Given the description of an element on the screen output the (x, y) to click on. 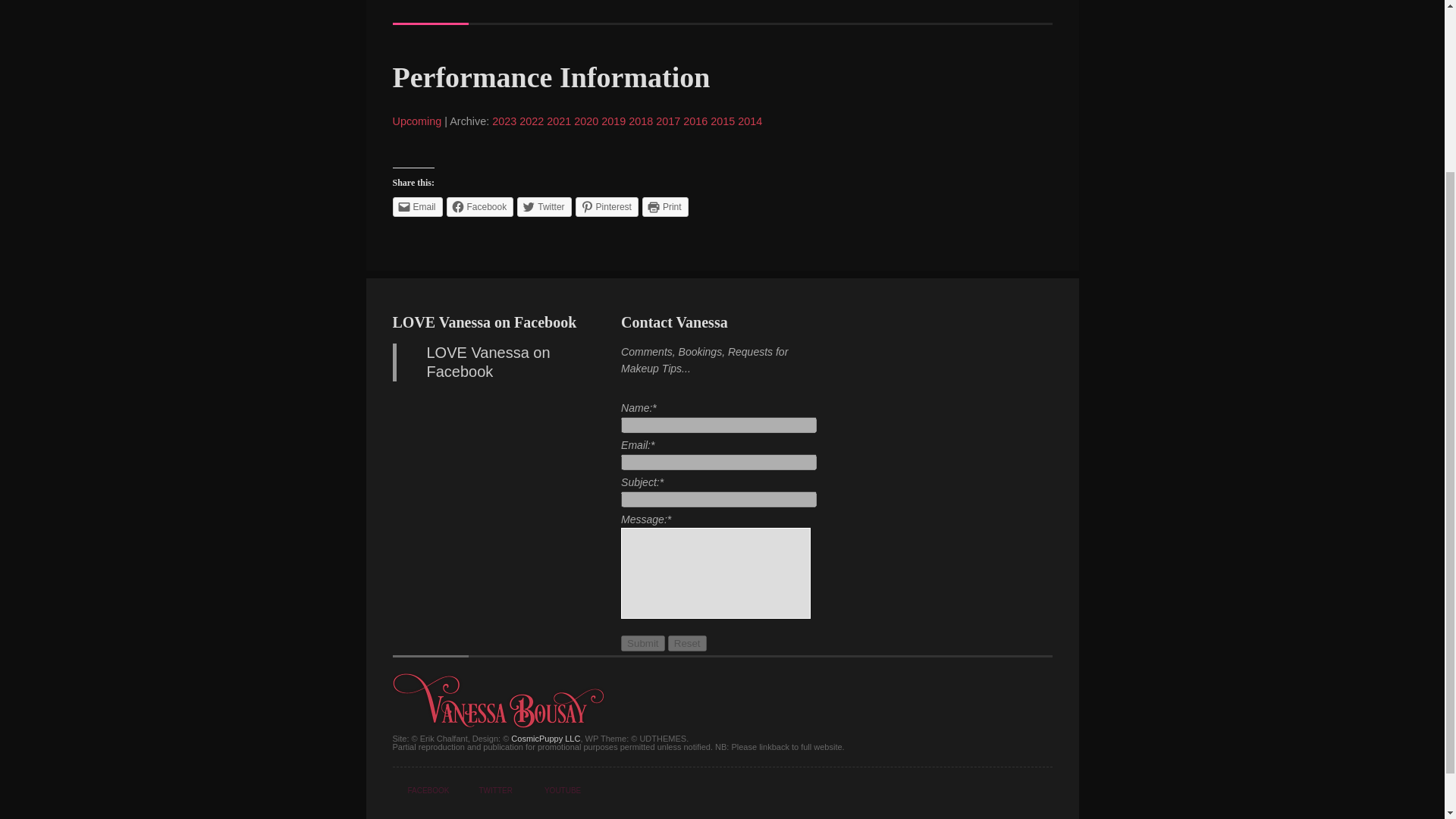
YouTube (552, 790)
Print (665, 207)
Submit (642, 643)
Upcoming (417, 121)
2019 (613, 121)
Click to print (665, 207)
Twitter (543, 207)
Email (417, 207)
Twitter (486, 790)
2020 (585, 121)
LOVE Vanessa on Facebook (484, 321)
Facebook (421, 790)
LOVE Vanessa on Facebook (488, 361)
Click to share on Pinterest (607, 207)
2017 (667, 121)
